Given the description of an element on the screen output the (x, y) to click on. 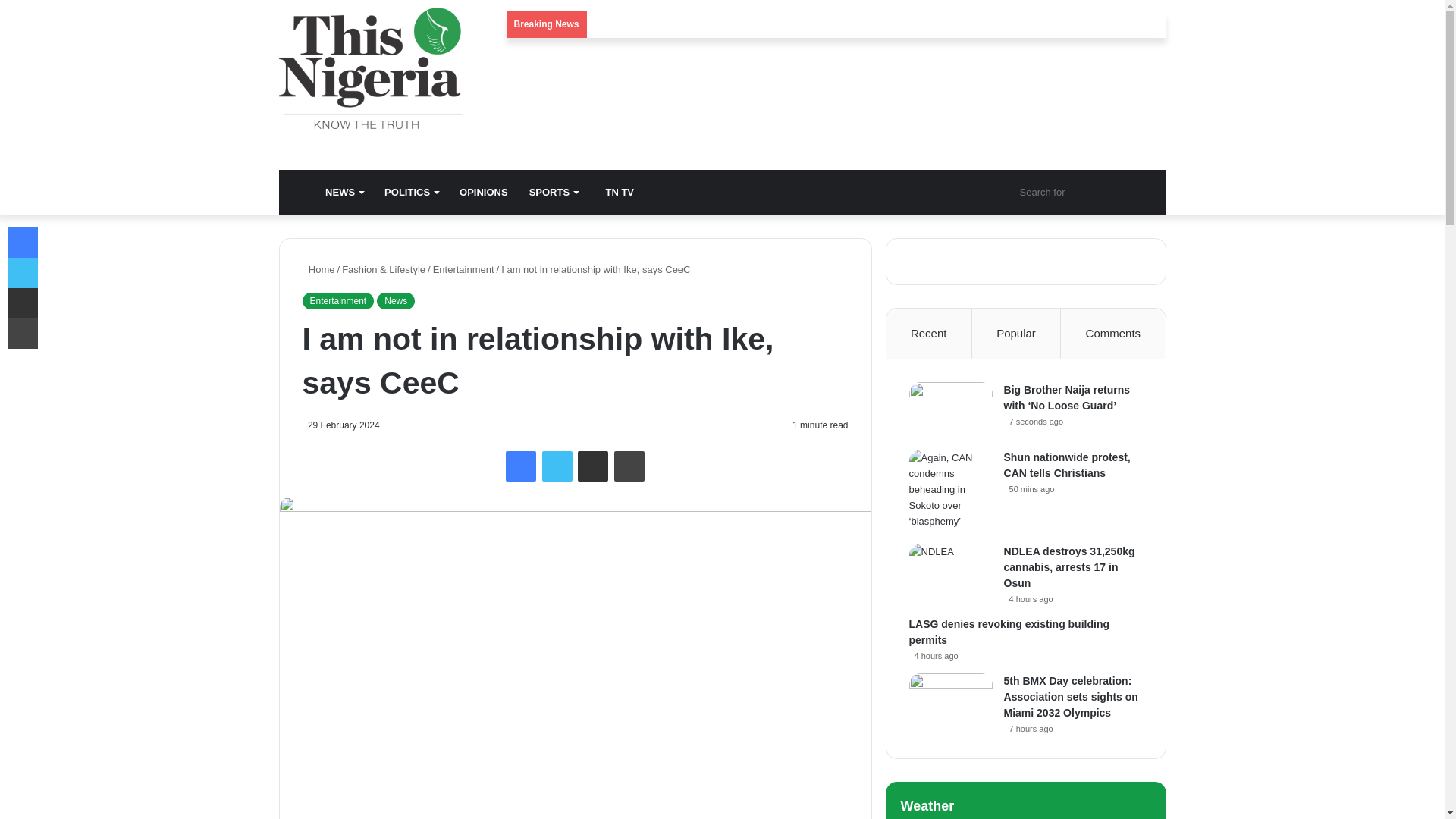
HOME (297, 192)
Search for (1088, 192)
ThisNigeria (371, 67)
Random Article (969, 192)
Random Article (969, 192)
Home (317, 269)
Print (629, 466)
SPORTS (553, 192)
Twitter (556, 466)
POLITICS (411, 192)
Share via Email (593, 466)
OPINIONS (483, 192)
TN TV (616, 192)
Facebook (520, 466)
NEWS (344, 192)
